Given the description of an element on the screen output the (x, y) to click on. 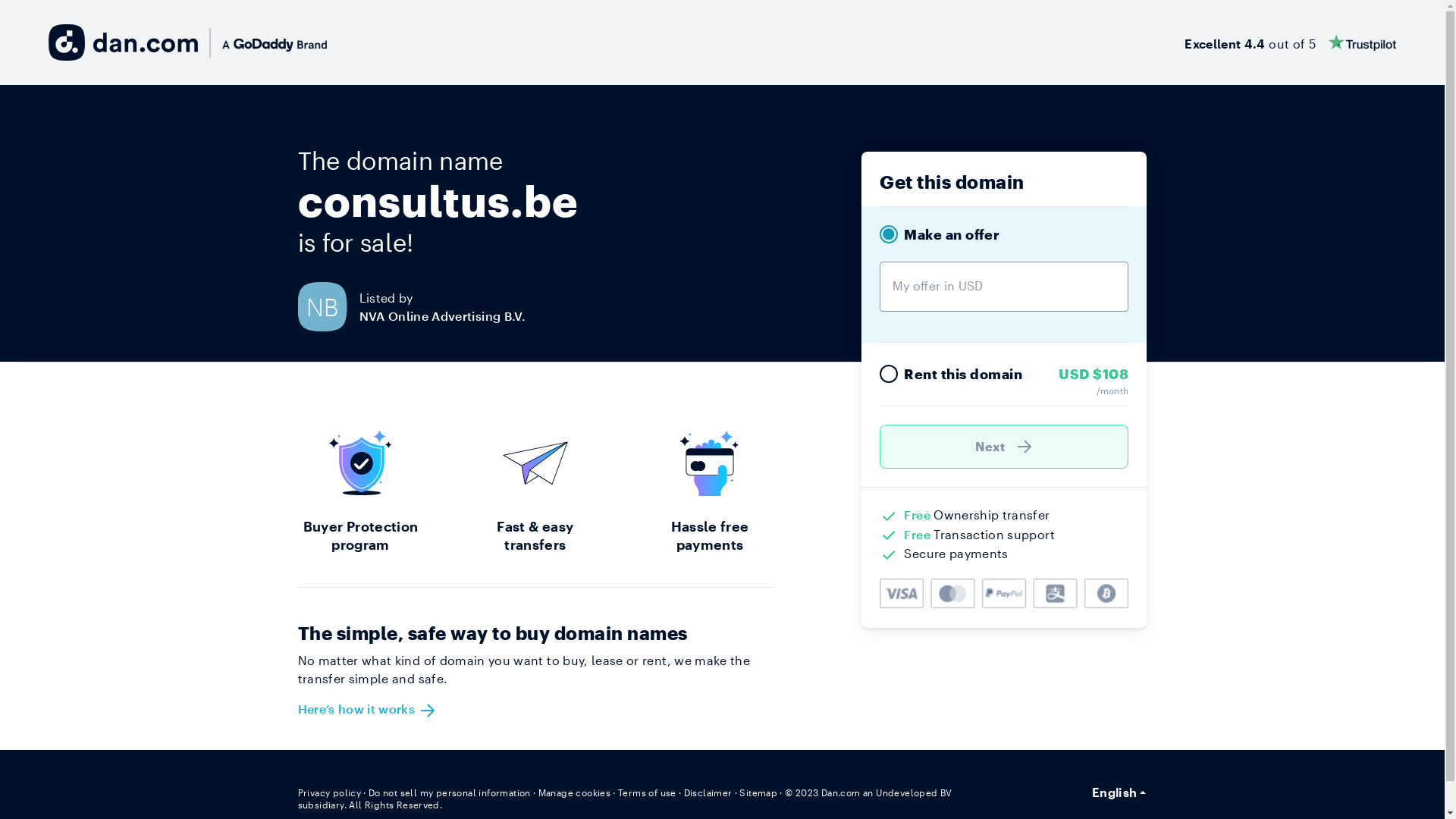
Disclaimer Element type: text (708, 792)
Privacy policy Element type: text (328, 792)
Do not sell my personal information Element type: text (449, 792)
Manage cookies Element type: text (574, 792)
Excellent 4.4 out of 5 Element type: text (1290, 42)
Terms of use Element type: text (647, 792)
English Element type: text (1119, 792)
Sitemap Element type: text (758, 792)
Next
) Element type: text (1003, 446)
